Given the description of an element on the screen output the (x, y) to click on. 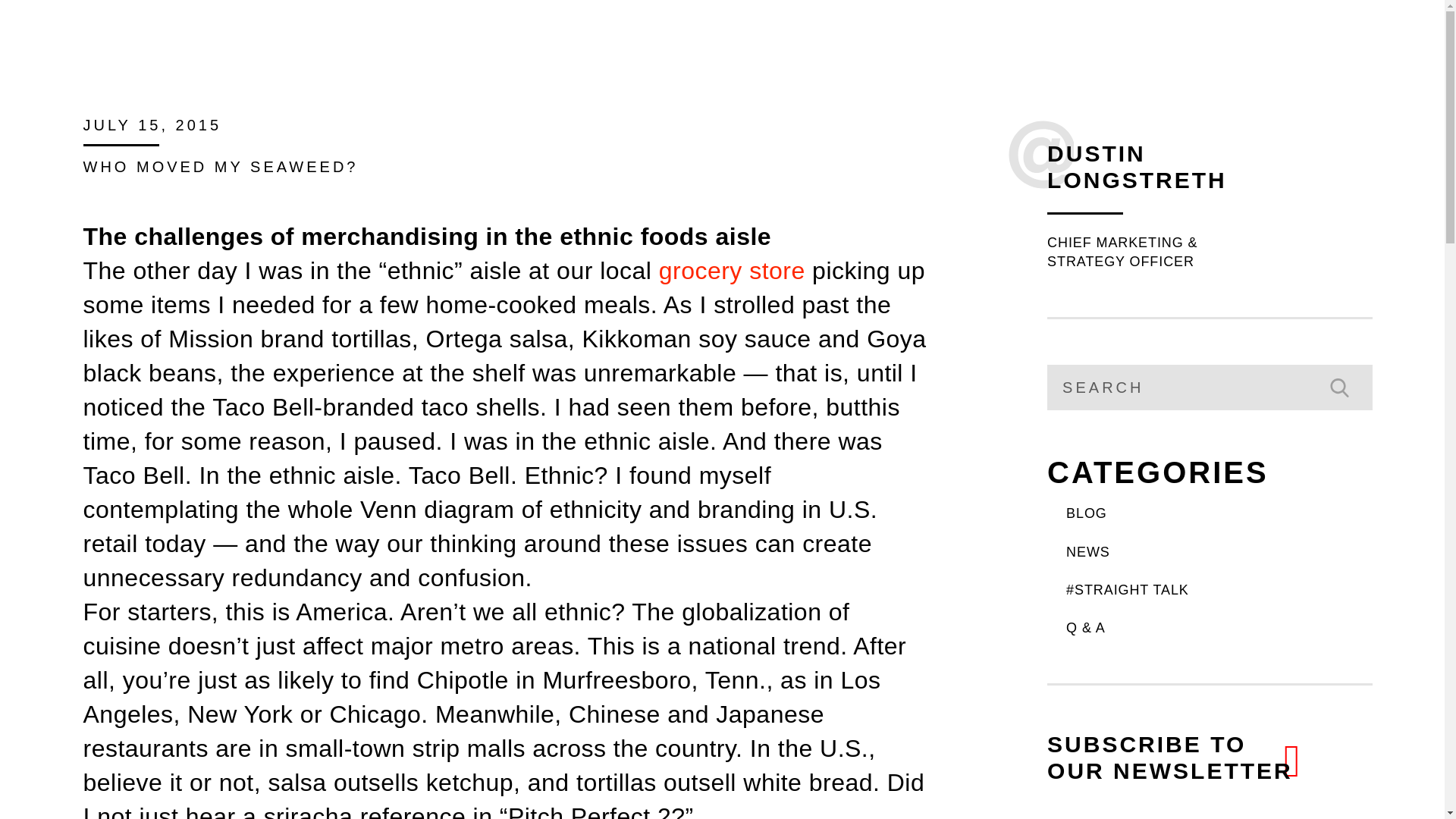
CBX (98, 33)
NEWS (1219, 551)
BLOG (1219, 513)
Abrir menu (1169, 757)
grocery store (1363, 34)
